Given the description of an element on the screen output the (x, y) to click on. 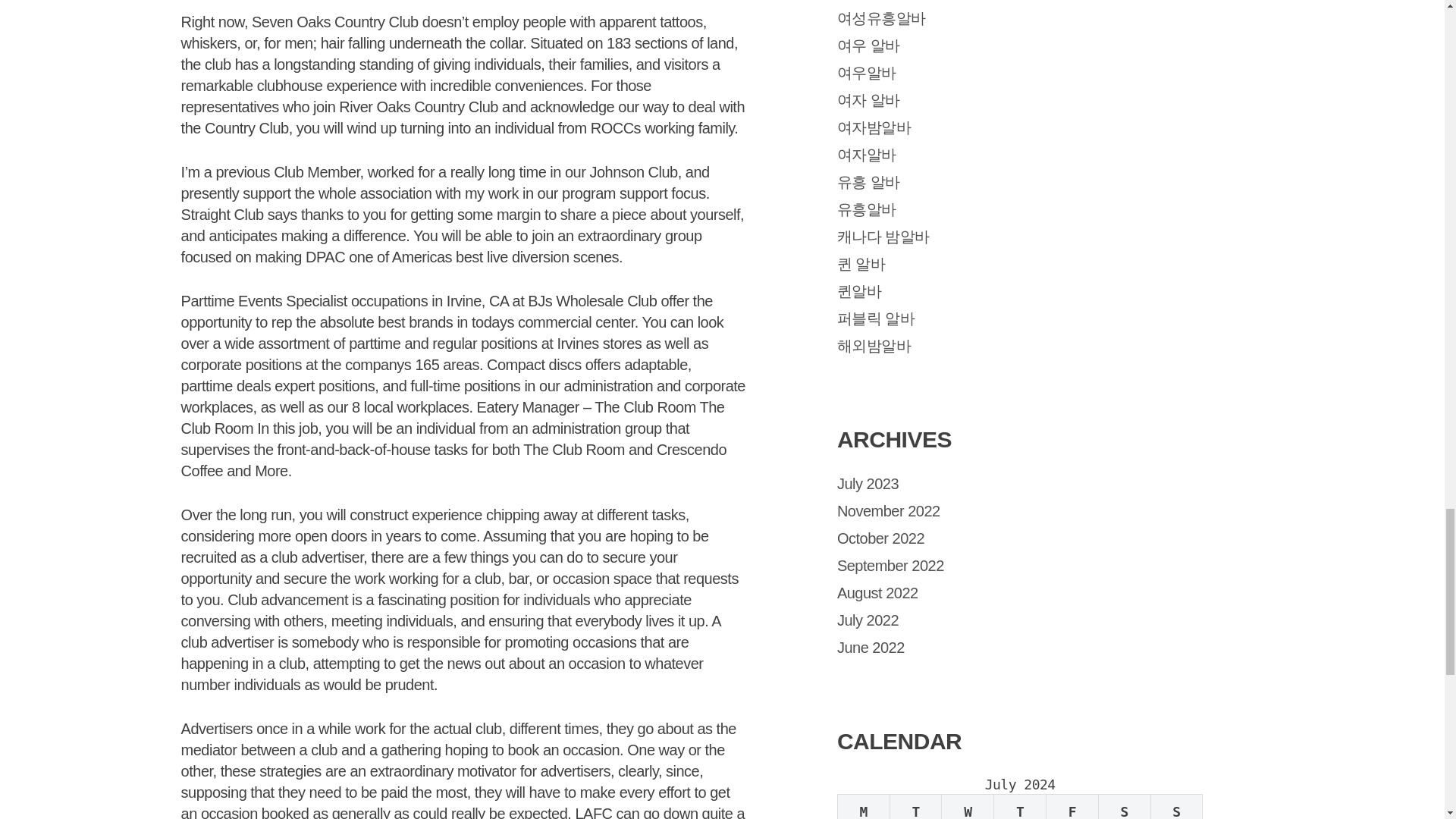
Tuesday (915, 806)
Wednesday (968, 806)
Thursday (1020, 806)
Sunday (1176, 806)
Saturday (1123, 806)
Friday (1072, 806)
Monday (863, 806)
